Given the description of an element on the screen output the (x, y) to click on. 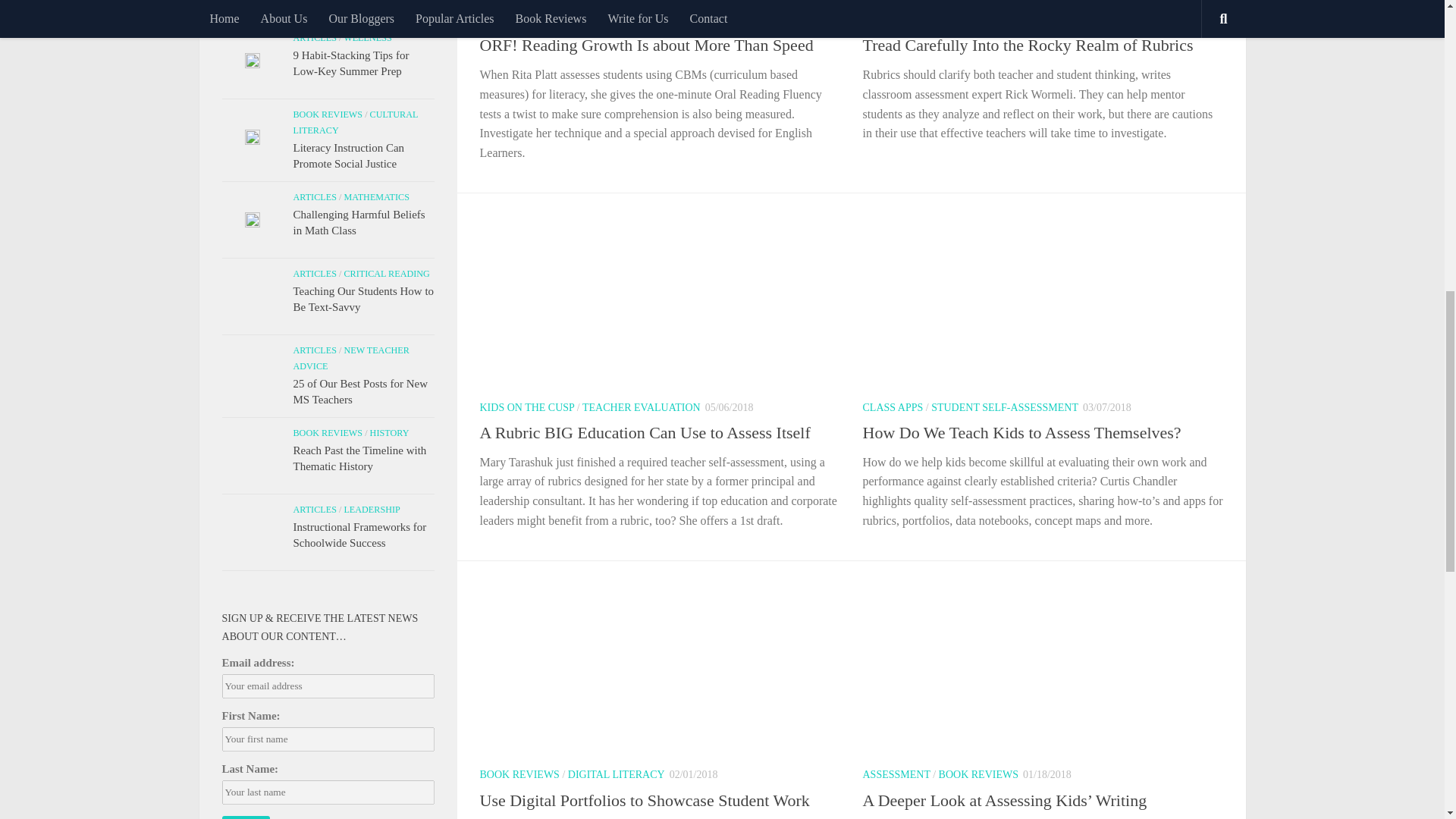
ASSESSMENT (954, 19)
HEART OF THE SCHOOL (537, 19)
Sign up (245, 817)
ORF! Reading Growth Is about More Than Speed (645, 45)
ARTICLES (887, 19)
READING (630, 19)
